Given the description of an element on the screen output the (x, y) to click on. 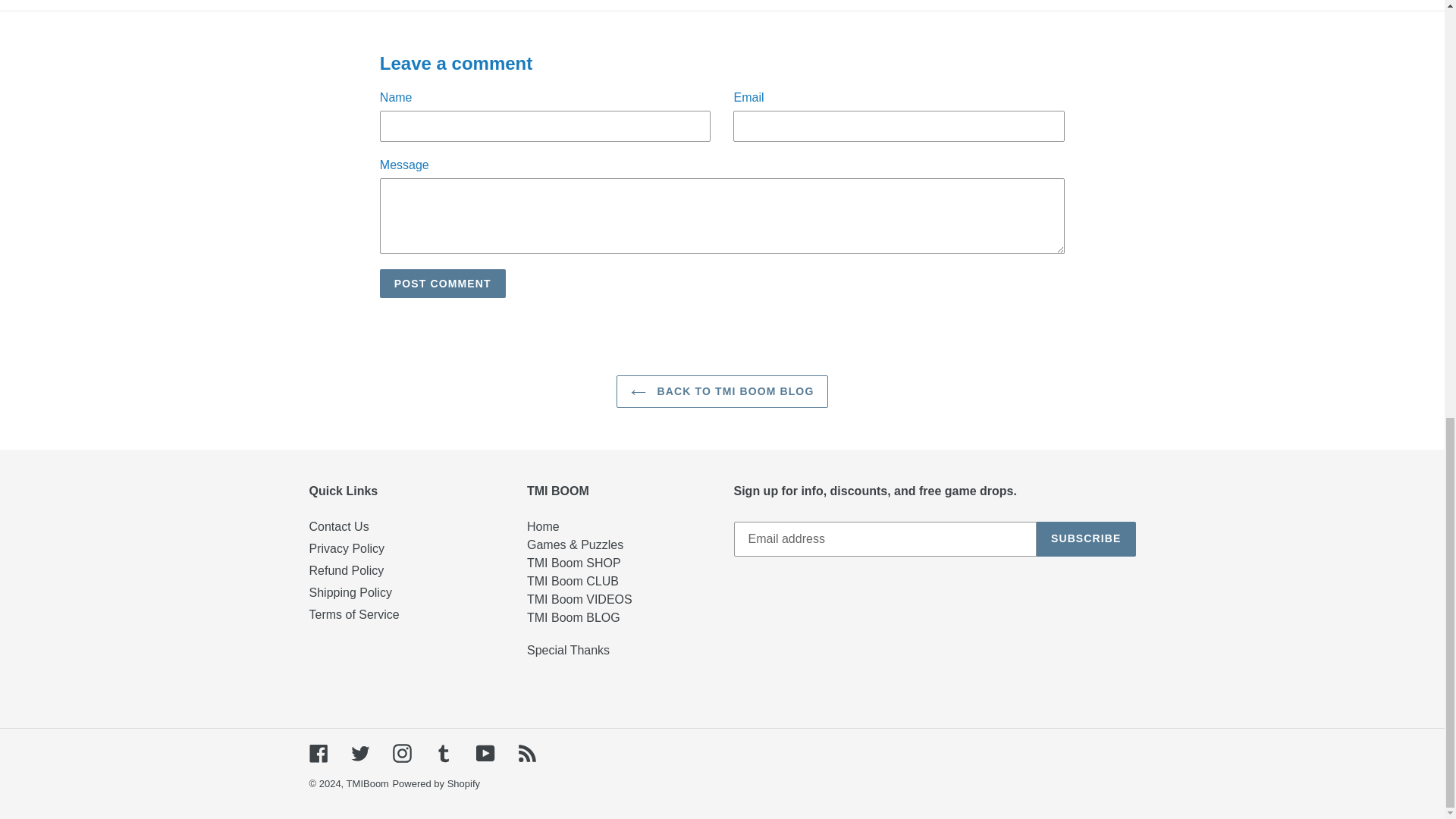
Terms of Service (353, 614)
Privacy Policy (346, 548)
TMI Boom Blog (573, 617)
Facebook (318, 752)
Special Thanks (568, 649)
Contact Us (338, 526)
Post comment (442, 283)
Special Thanks (568, 649)
Post comment (442, 283)
TMI Boom VIDEOS (579, 599)
